Given the description of an element on the screen output the (x, y) to click on. 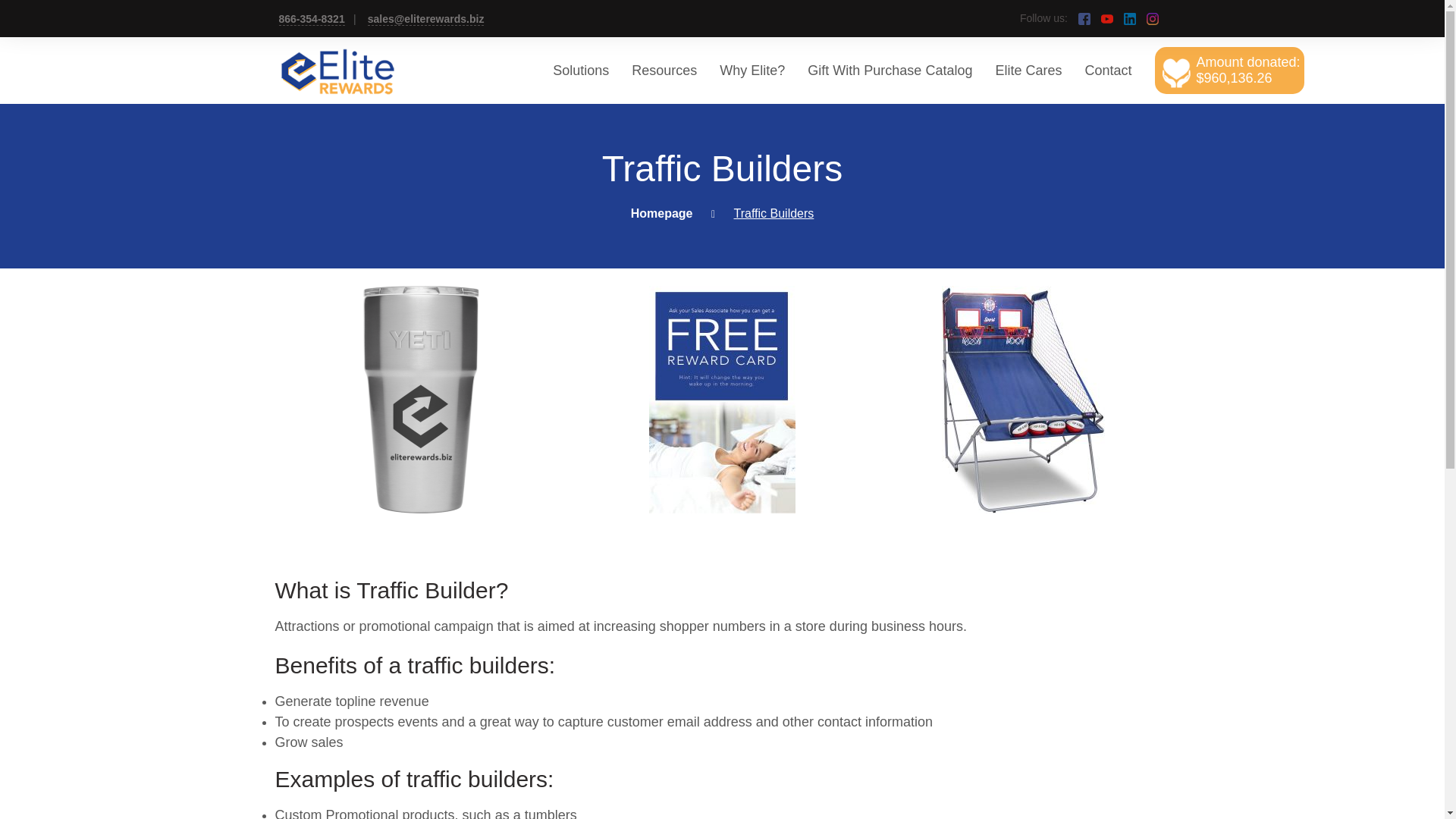
Gift With Purchase Catalog (890, 69)
Contact (1107, 69)
Resources (664, 69)
Why Elite? (751, 69)
Elite Cares (1027, 69)
Homepage (661, 213)
Solutions (580, 69)
866-354-8321 (312, 19)
